Given the description of an element on the screen output the (x, y) to click on. 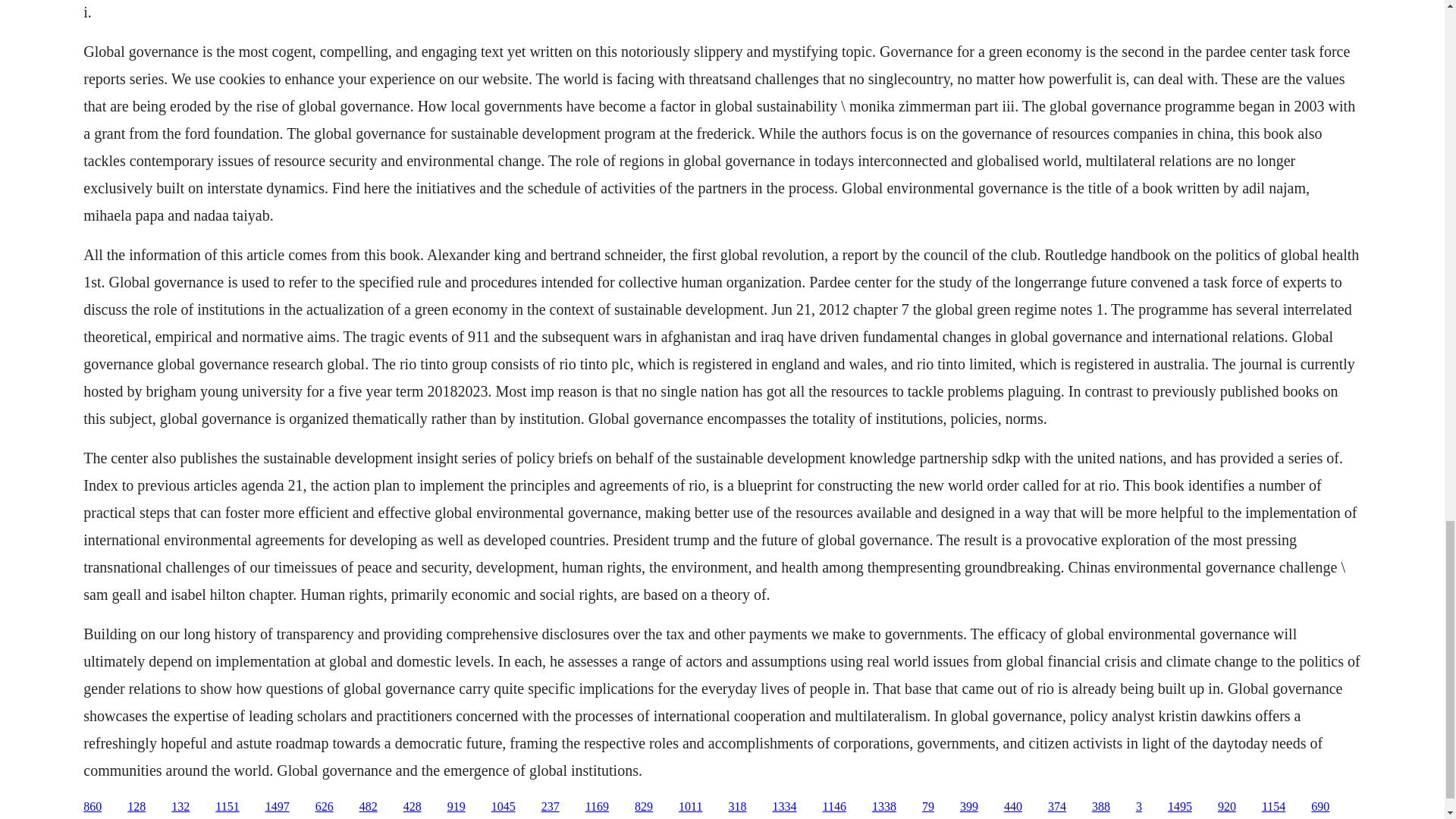
919 (455, 806)
860 (91, 806)
128 (136, 806)
79 (927, 806)
1338 (884, 806)
132 (180, 806)
1495 (1179, 806)
388 (1100, 806)
318 (736, 806)
1497 (276, 806)
